Given the description of an element on the screen output the (x, y) to click on. 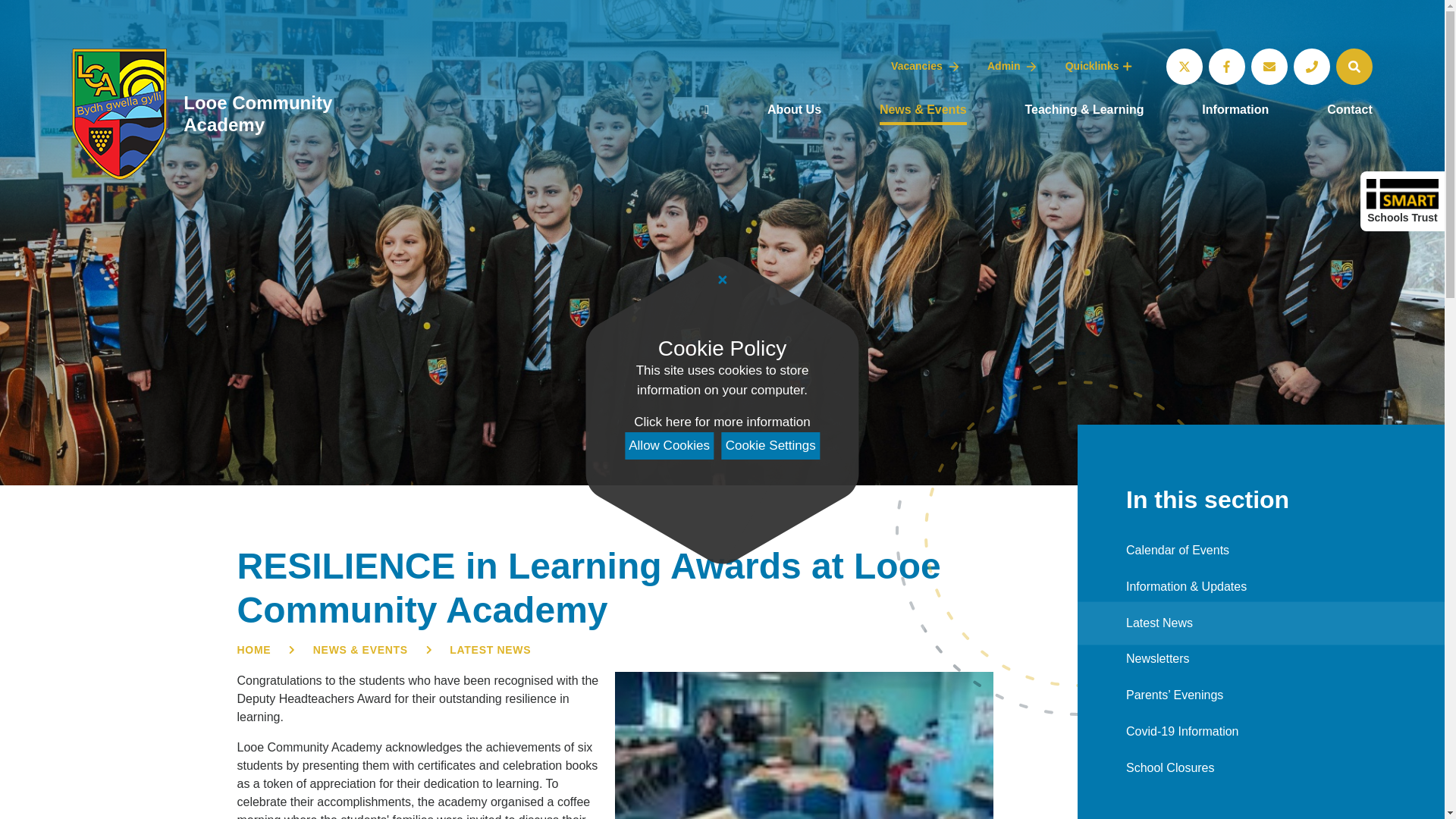
About Us (794, 110)
Allow Cookies (668, 445)
See cookie policy (721, 422)
Looe Community Academy (233, 113)
Cookie Settings (769, 445)
